Given the description of an element on the screen output the (x, y) to click on. 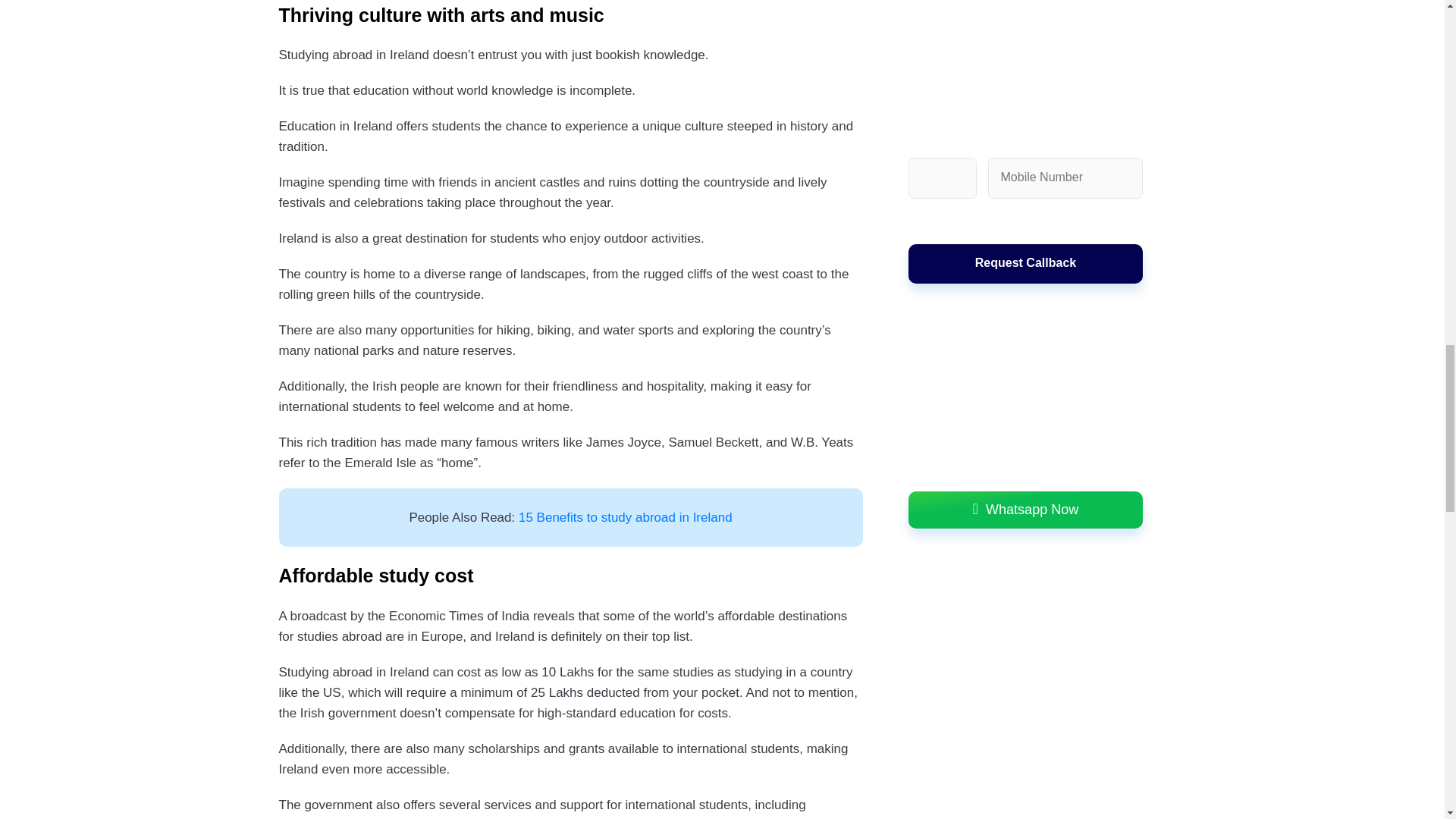
15 Benefits to study abroad in Ireland (625, 517)
